Given the description of an element on the screen output the (x, y) to click on. 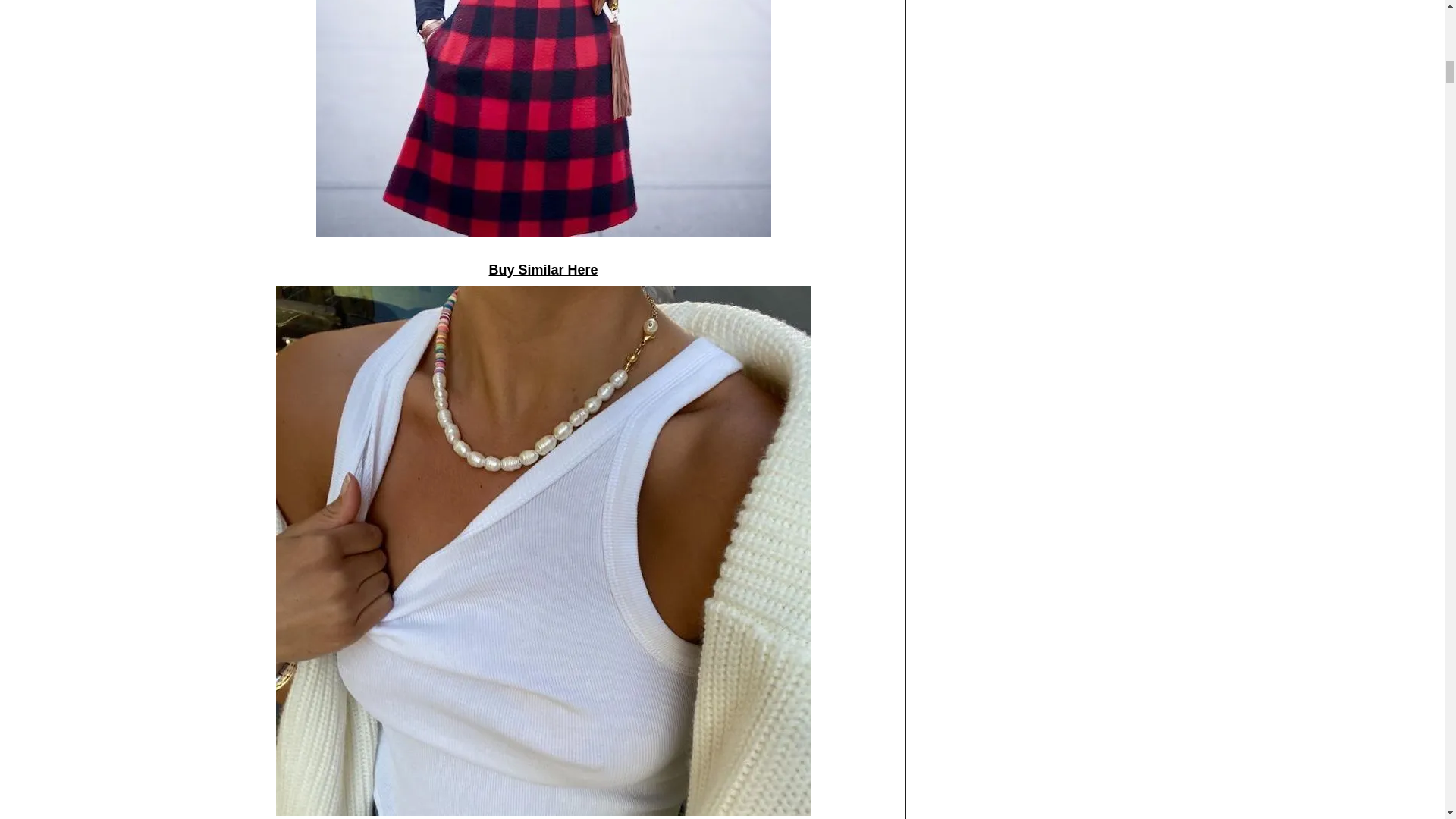
Necklaces For Women Best Designs To Try This Year 2023 (542, 118)
Buy Similar Here (541, 269)
